Given the description of an element on the screen output the (x, y) to click on. 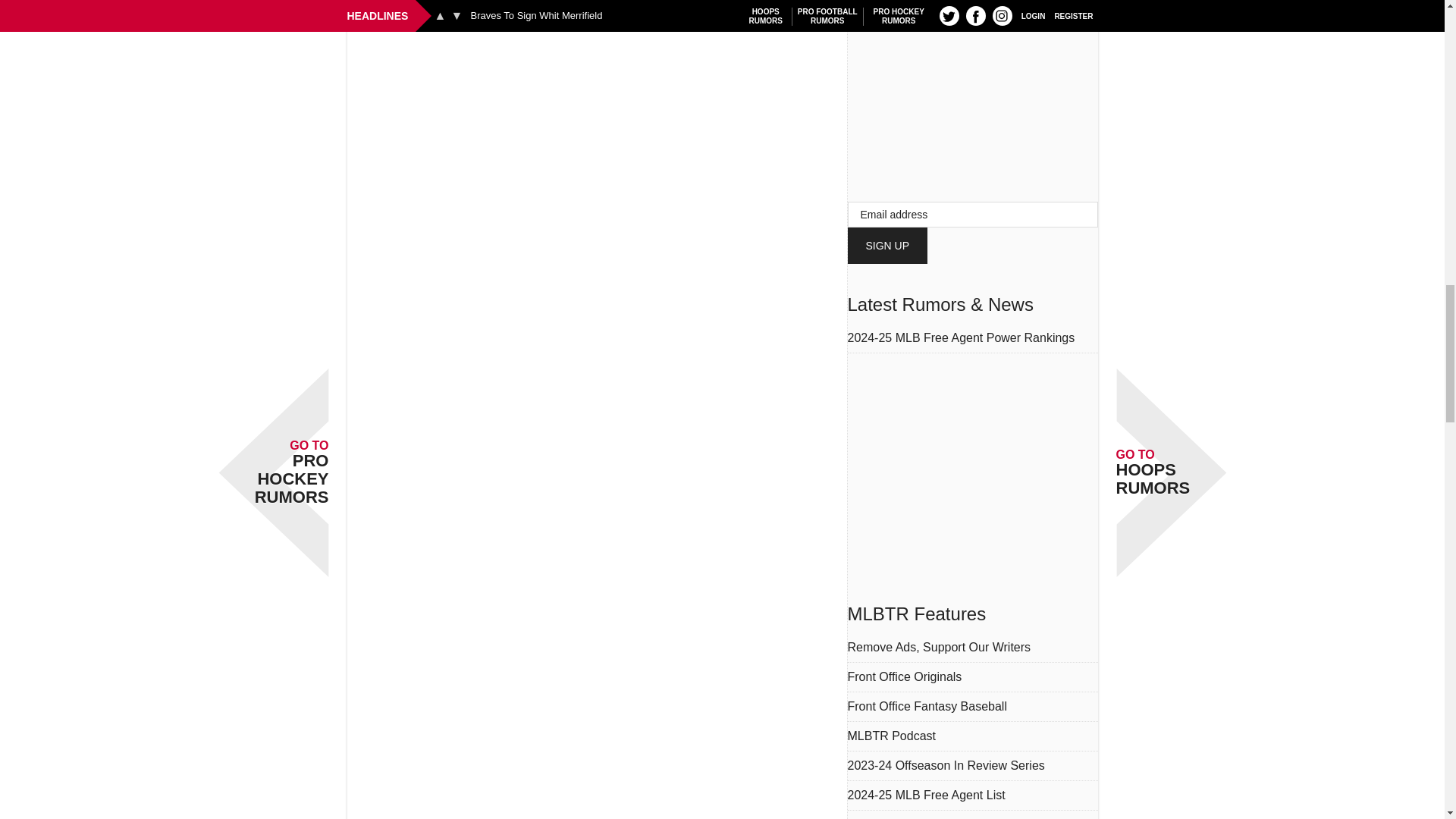
Sign Up (887, 245)
